Given the description of an element on the screen output the (x, y) to click on. 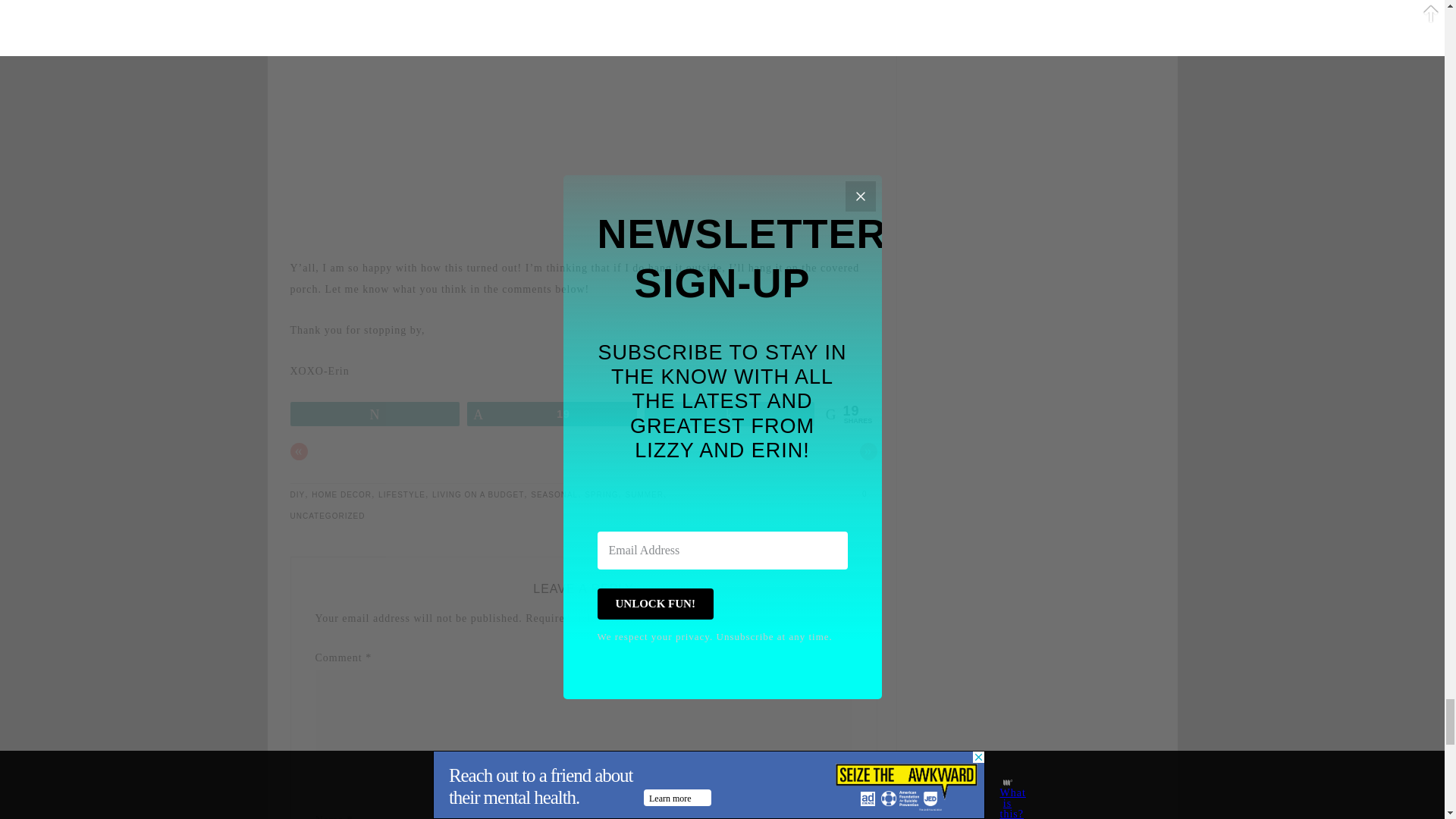
LIVING ON A BUDGET (478, 494)
19 (552, 413)
Previous Post: The Great Junk Hunt (298, 451)
HOME DECOR (341, 494)
LIFESTYLE (401, 494)
DIY (296, 494)
SPRING (601, 494)
Next Post: Painting Some Finds From The Great Junk Hunt (868, 451)
0 (864, 494)
SEASONAL (554, 494)
UNCATEGORIZED (327, 515)
SUMMER (644, 494)
